Given the description of an element on the screen output the (x, y) to click on. 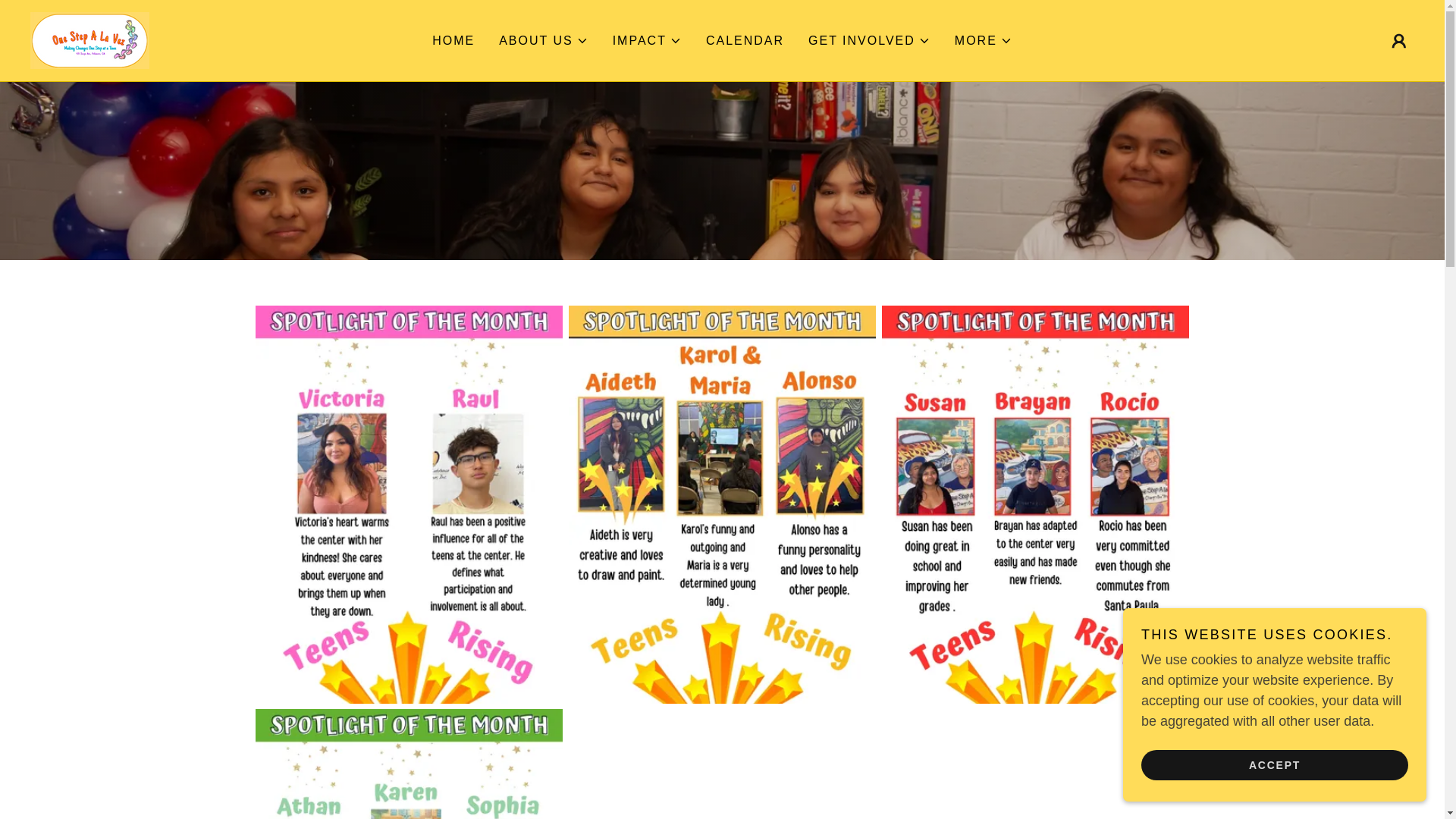
GET INVOLVED (869, 40)
ABOUT US (543, 40)
One Step A La Vez (89, 38)
HOME (453, 40)
MORE (983, 40)
CALENDAR (745, 40)
IMPACT (646, 40)
